Given the description of an element on the screen output the (x, y) to click on. 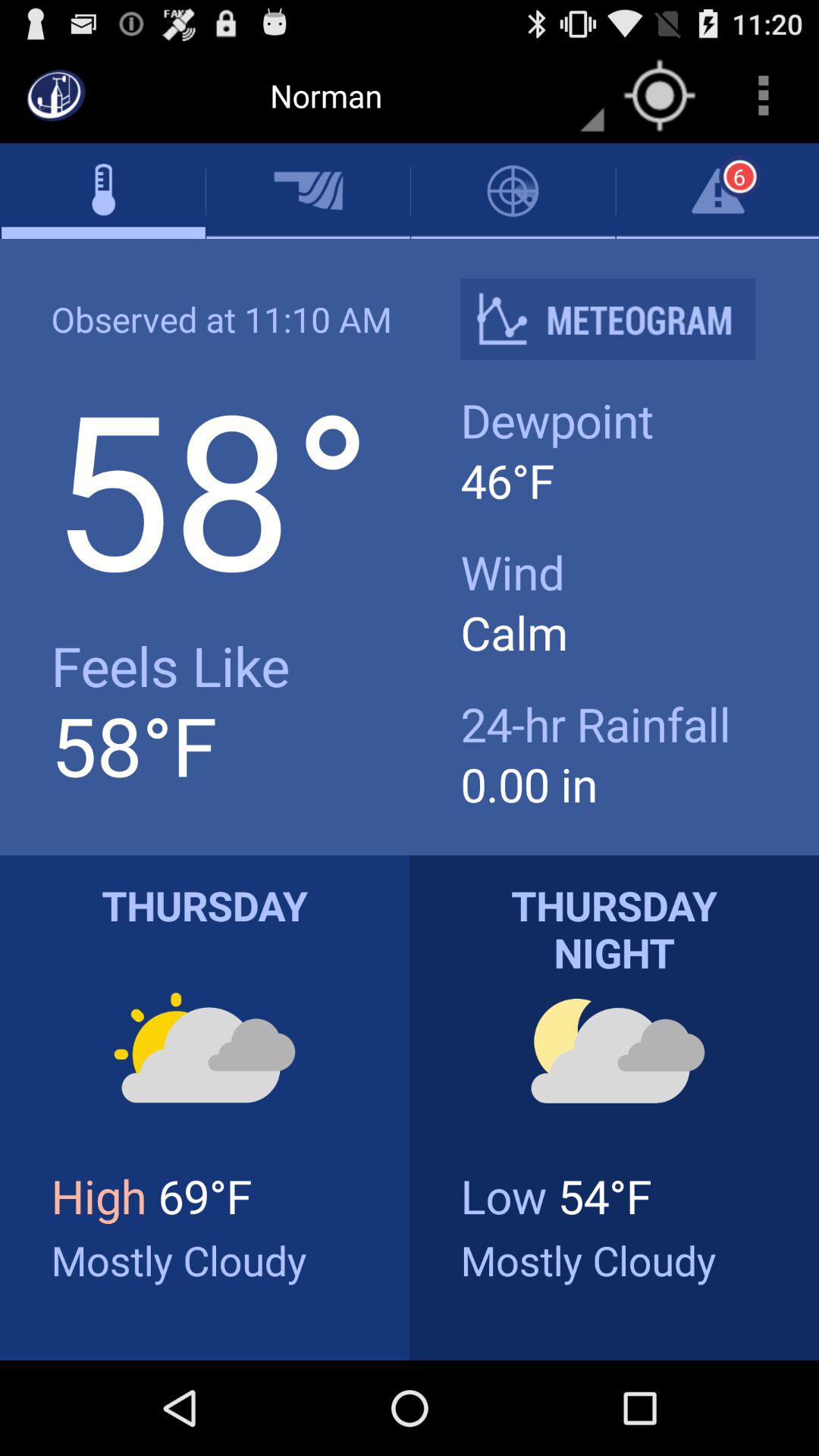
share (619, 319)
